Given the description of an element on the screen output the (x, y) to click on. 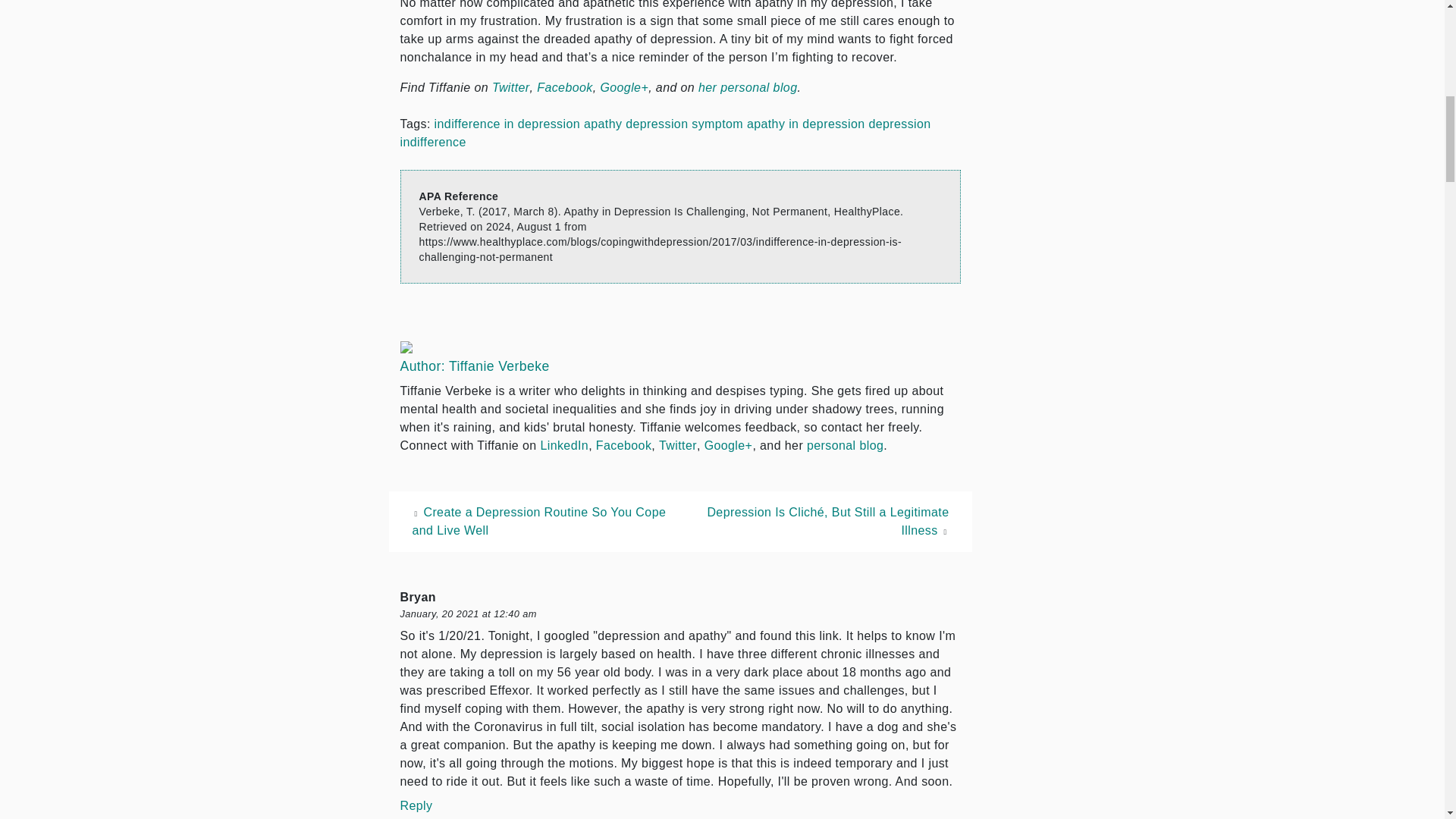
Tiffanie Verbeke on Facebook (564, 87)
Tiffanie Verbeke on Twitter (510, 87)
